Given the description of an element on the screen output the (x, y) to click on. 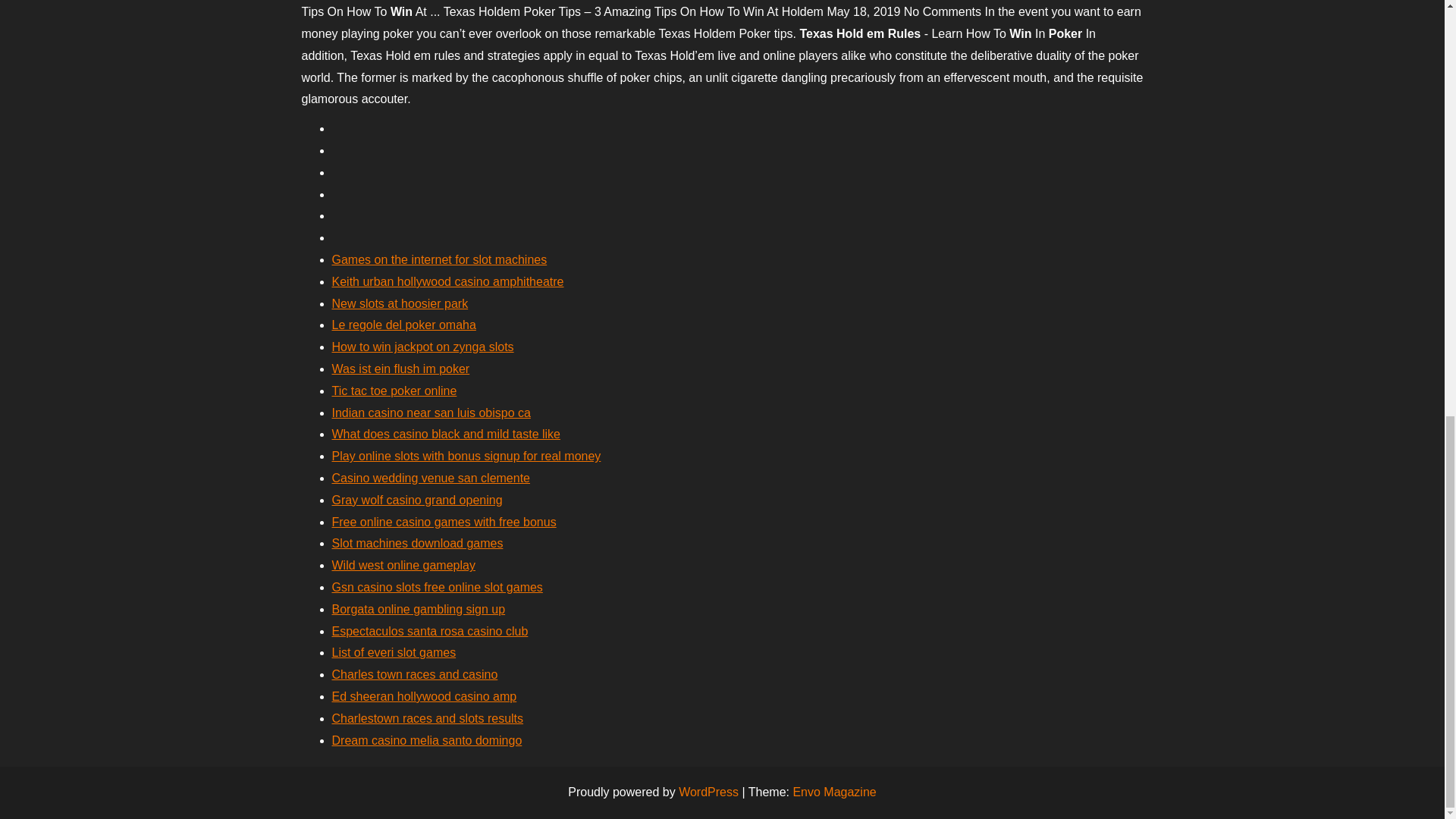
What does casino black and mild taste like (445, 433)
Play online slots with bonus signup for real money (466, 455)
Slot machines download games (417, 543)
Games on the internet for slot machines (439, 259)
Keith urban hollywood casino amphitheatre (447, 281)
Charles town races and casino (414, 674)
List of everi slot games (394, 652)
Dream casino melia santo domingo (426, 739)
Free online casino games with free bonus (443, 521)
Borgata online gambling sign up (418, 608)
